Given the description of an element on the screen output the (x, y) to click on. 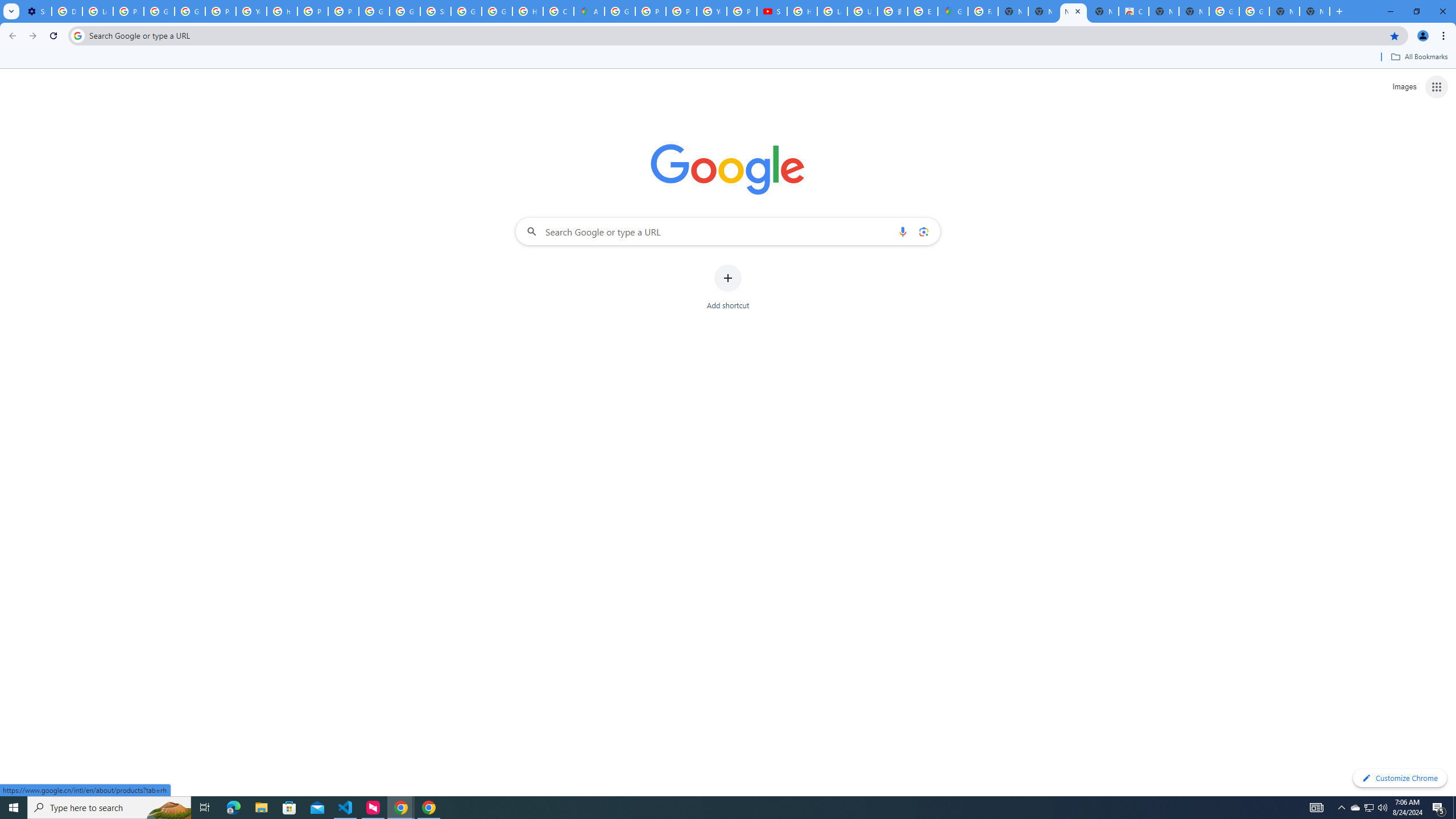
YouTube (711, 11)
Privacy Help Center - Policies Help (312, 11)
Google Account Help (158, 11)
